Given the description of an element on the screen output the (x, y) to click on. 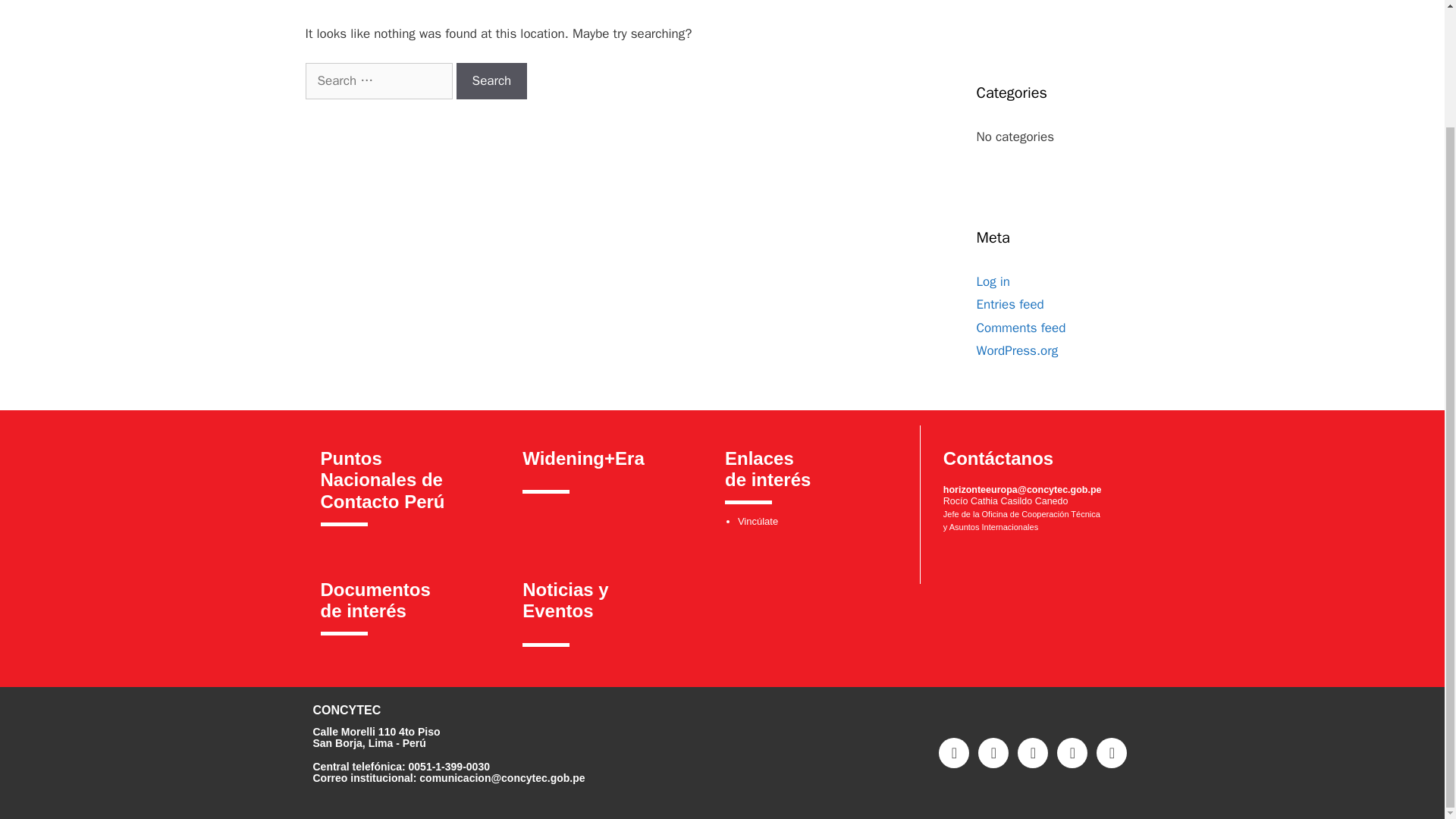
Search for: (377, 81)
Entries feed (1009, 304)
Search (492, 81)
Noticias y Eventos (565, 600)
Log in (993, 280)
Comments feed (1020, 327)
WordPress.org (1017, 350)
Search (492, 81)
Search (492, 81)
